Given the description of an element on the screen output the (x, y) to click on. 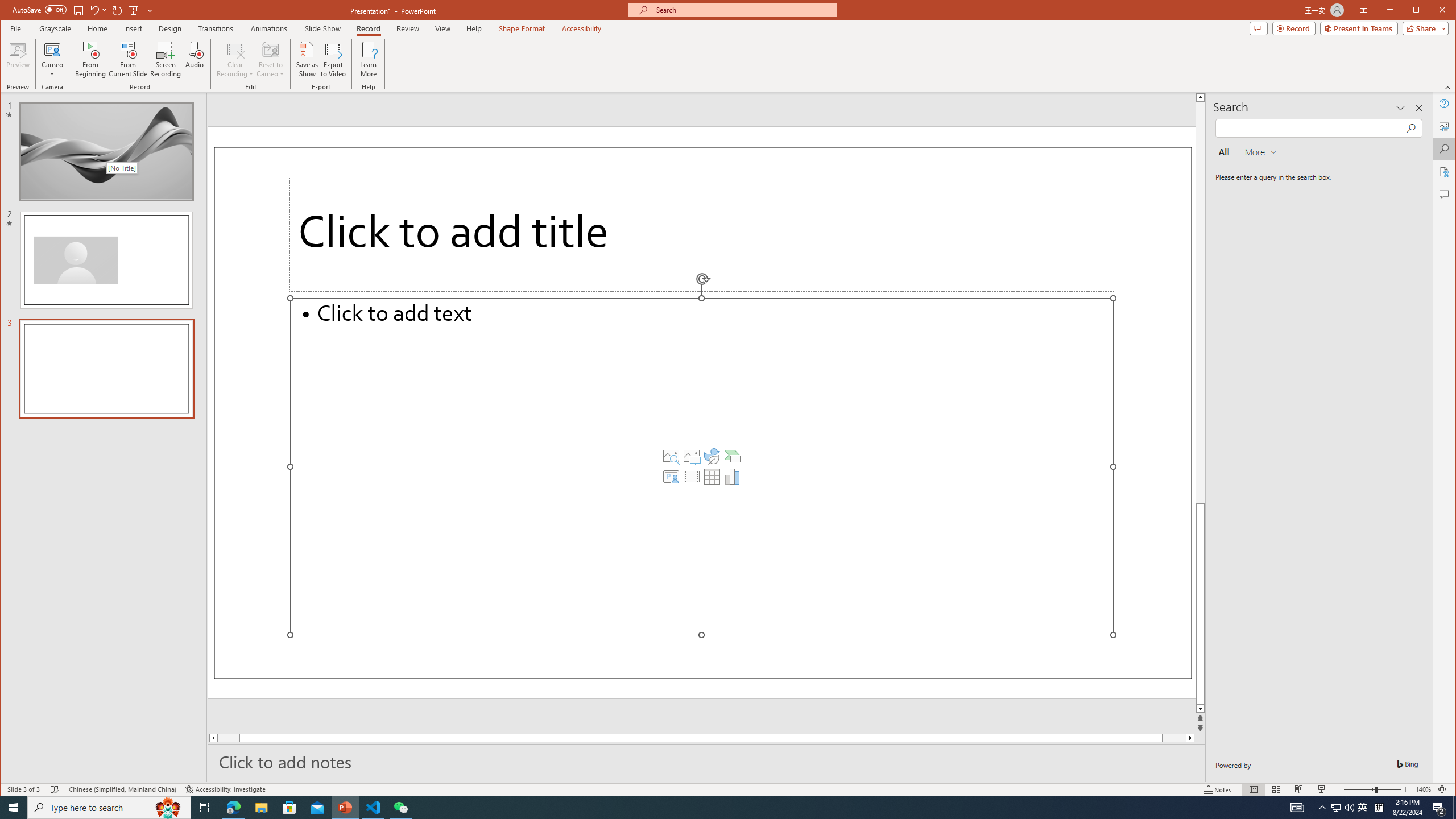
Zoom 140% (1422, 789)
Insert Chart (732, 476)
